Given the description of an element on the screen output the (x, y) to click on. 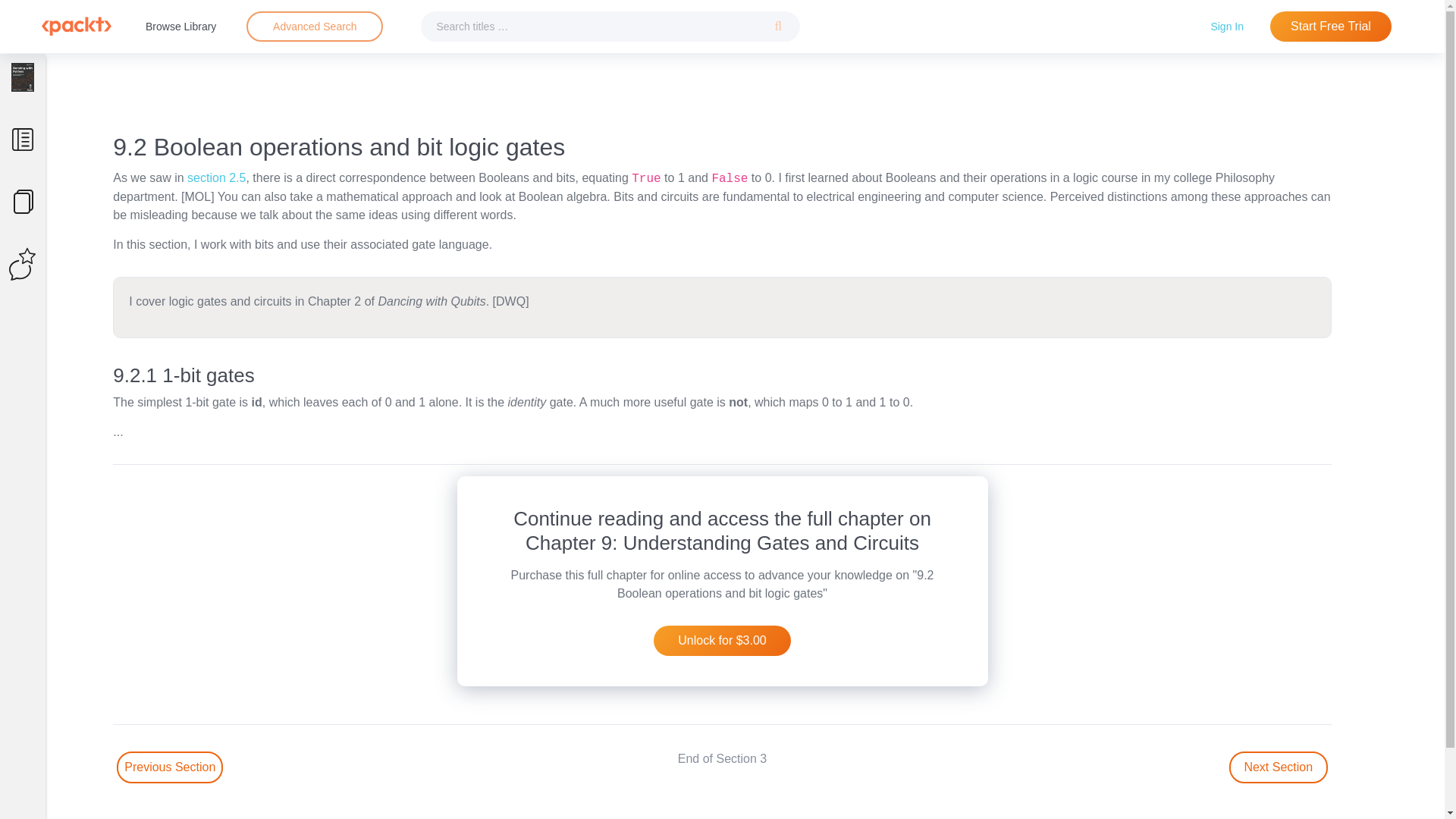
Start Free Trial (1330, 26)
Go to Previous section (169, 766)
Browse Library (180, 26)
Advanced search (314, 26)
Advanced Search (315, 26)
Go to next section (1277, 766)
Sign In (1227, 26)
Advanced Search (314, 26)
